Given the description of an element on the screen output the (x, y) to click on. 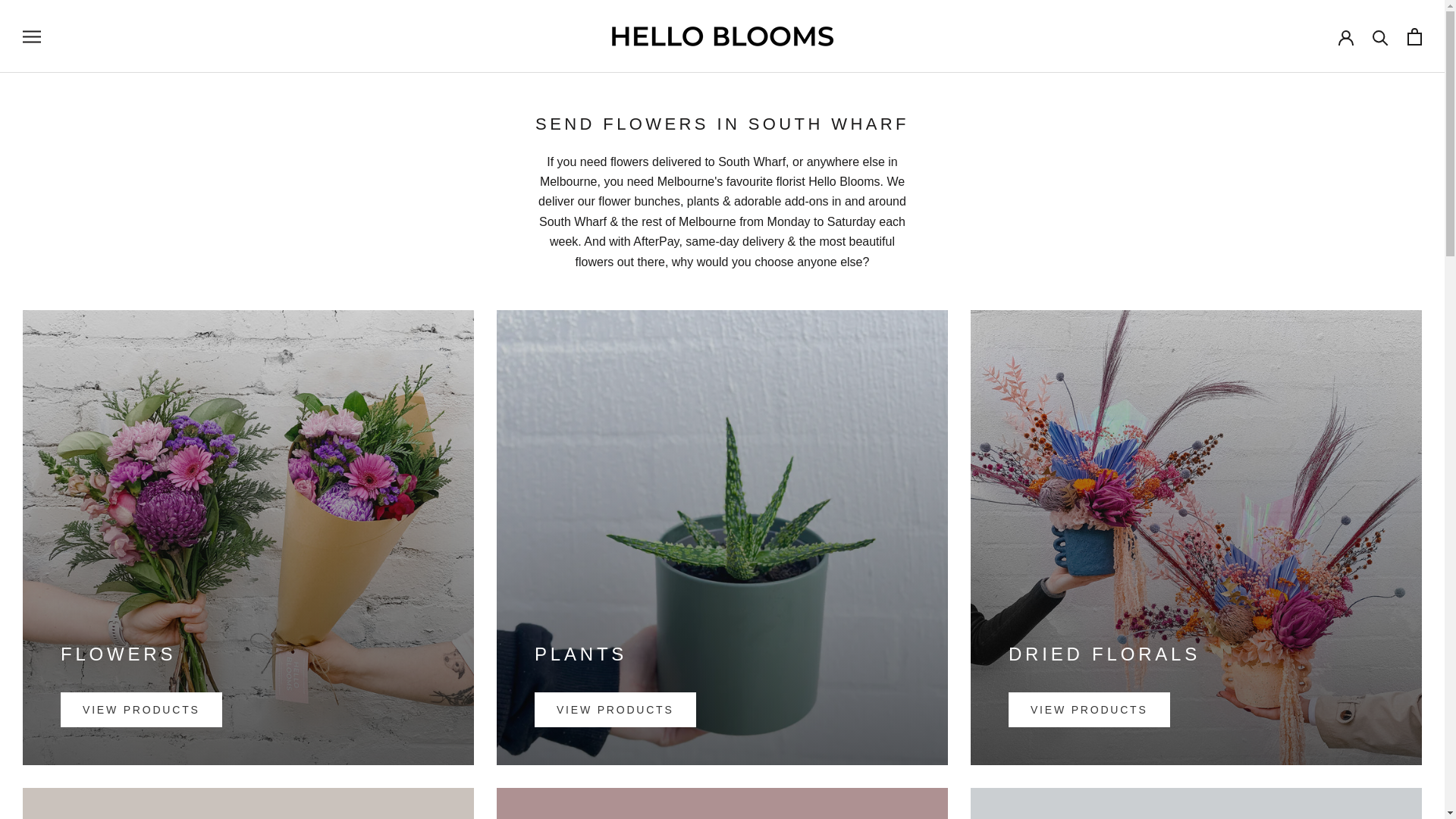
LiveChat chat widget (1330, 795)
